Given the description of an element on the screen output the (x, y) to click on. 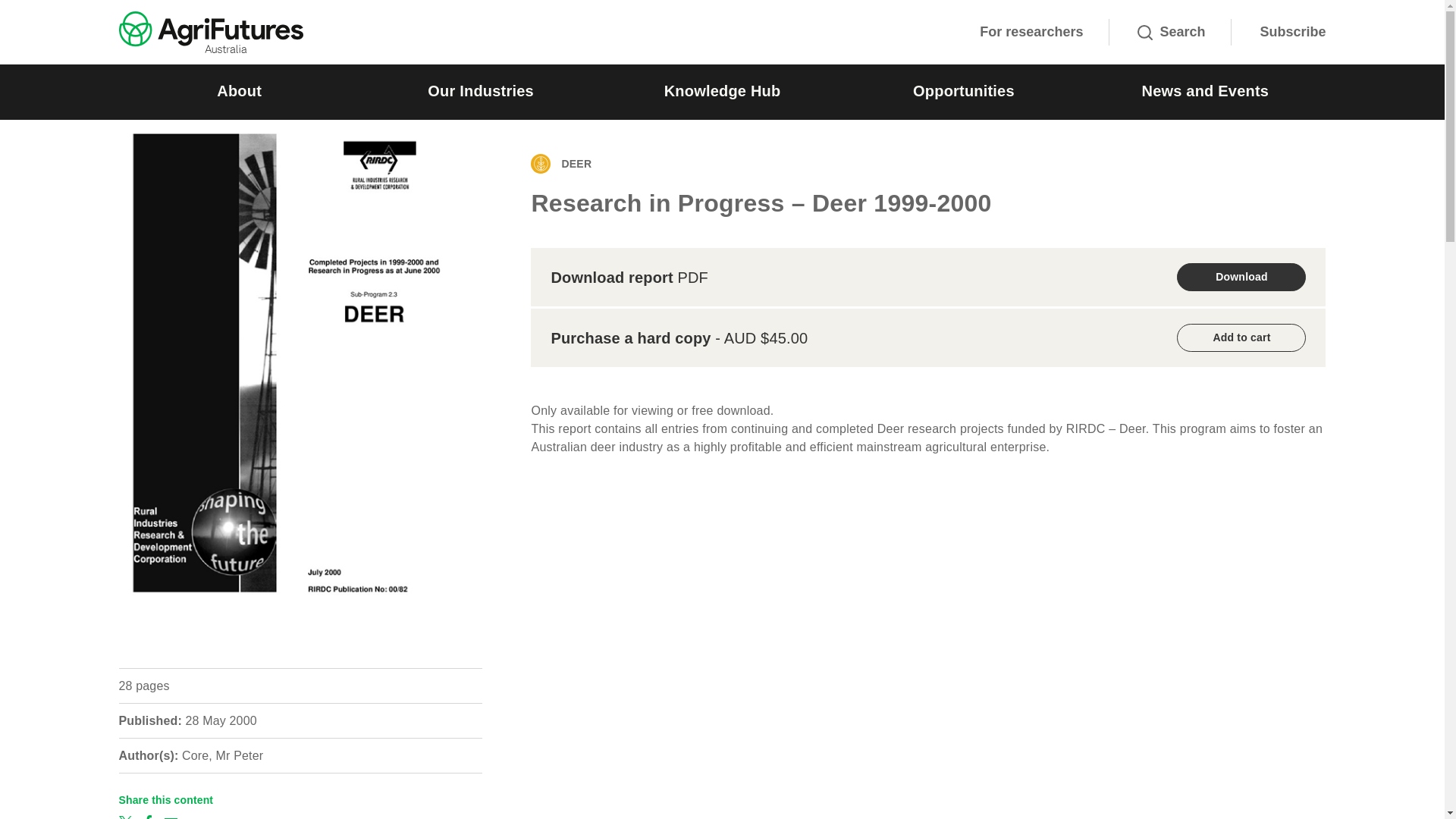
Opportunities (963, 91)
Subscribe (1291, 31)
Our Industries (480, 91)
For researchers (1031, 31)
Search (1171, 31)
About (238, 91)
Knowledge Hub (722, 91)
